Given the description of an element on the screen output the (x, y) to click on. 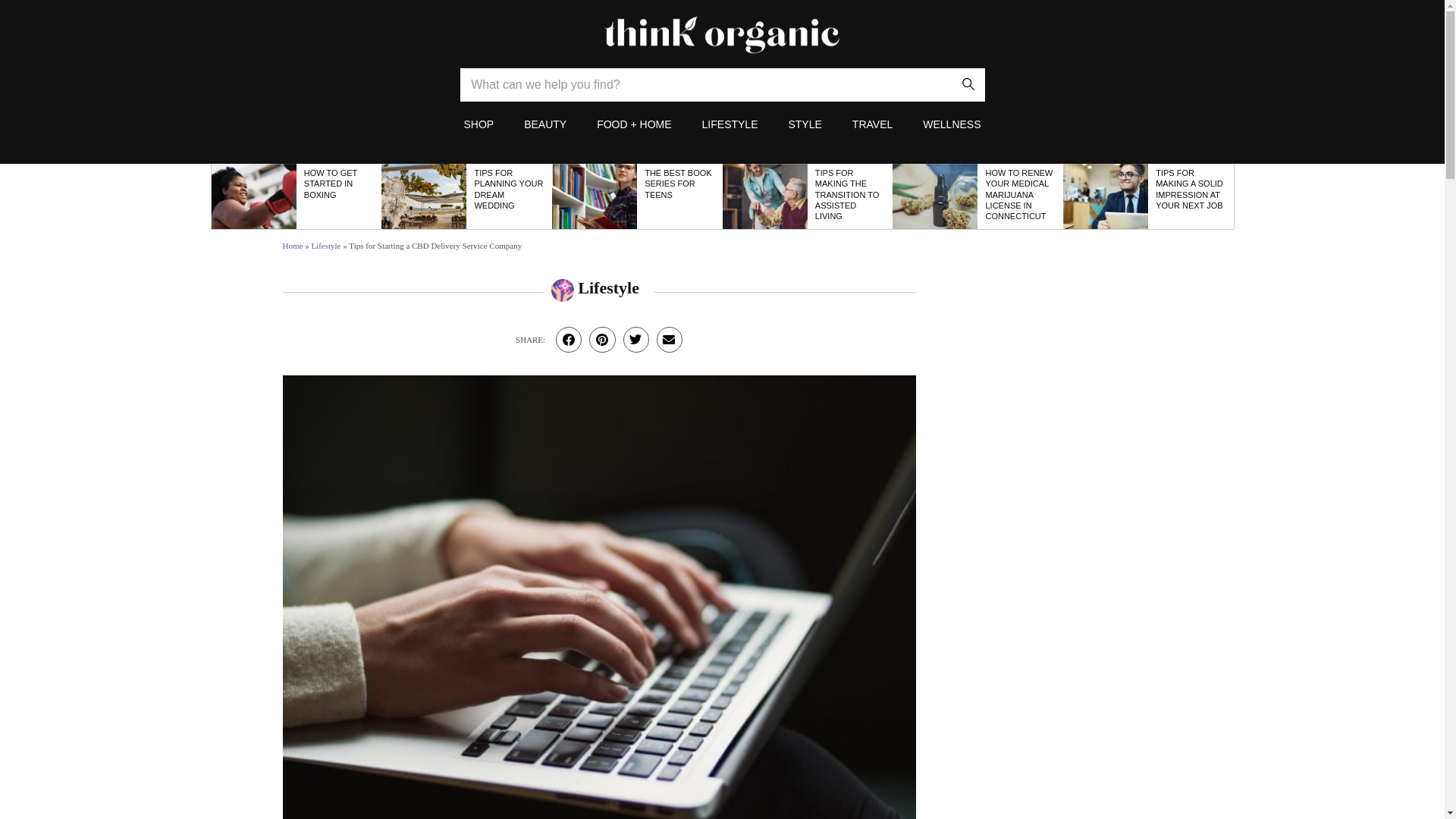
LIFESTYLE (729, 124)
HOW TO GET STARTED IN BOXING (330, 183)
WELLNESS (951, 124)
BEAUTY (545, 124)
STYLE (804, 124)
SHOP (478, 124)
TRAVEL (871, 124)
TIPS FOR PLANNING YOUR DREAM WEDDING (508, 188)
